Given the description of an element on the screen output the (x, y) to click on. 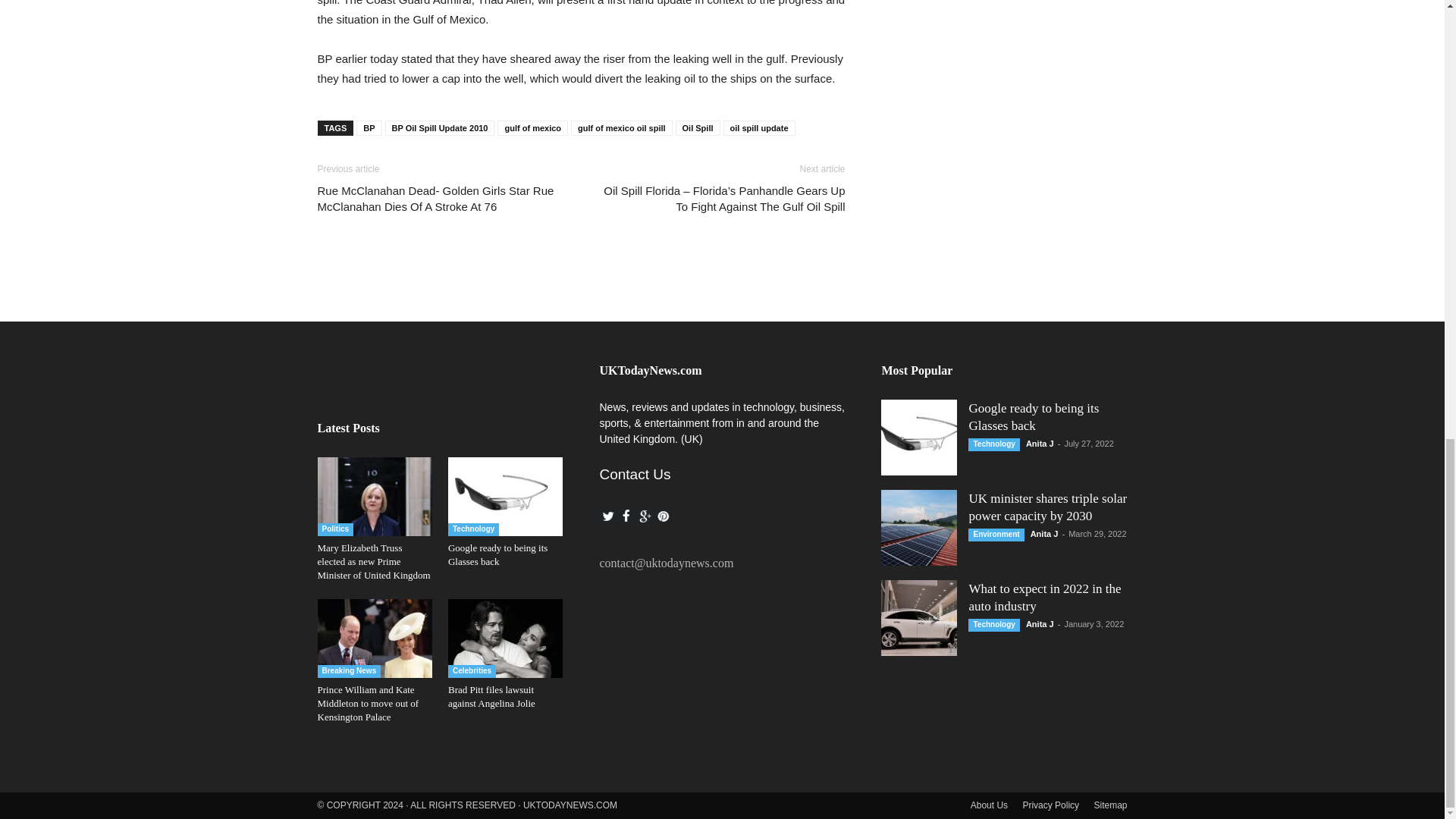
Google ready to being its Glasses back (505, 496)
Google ready to being its Glasses back (497, 554)
